Given the description of an element on the screen output the (x, y) to click on. 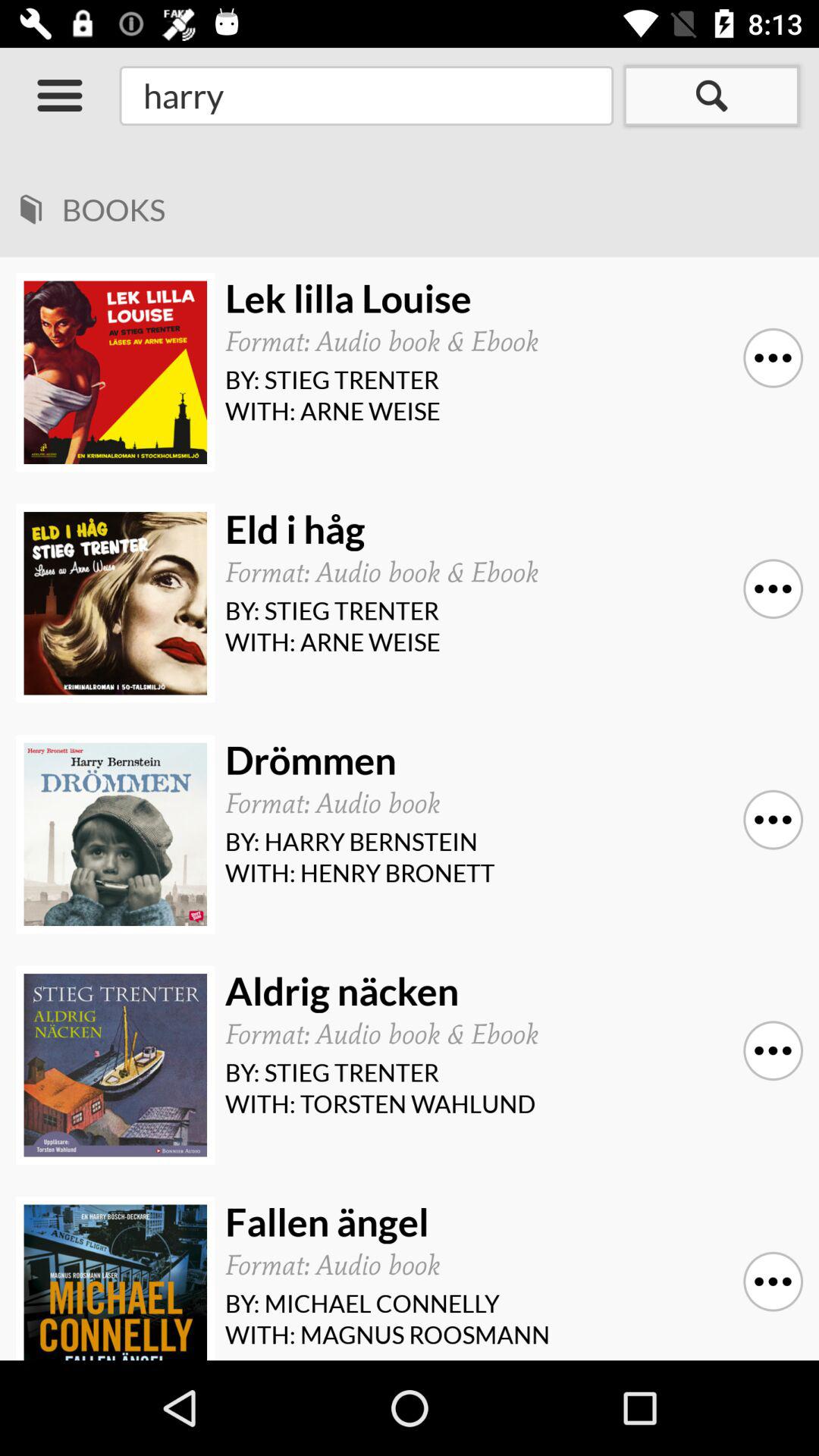
tap the icon to the left of books (30, 204)
